Given the description of an element on the screen output the (x, y) to click on. 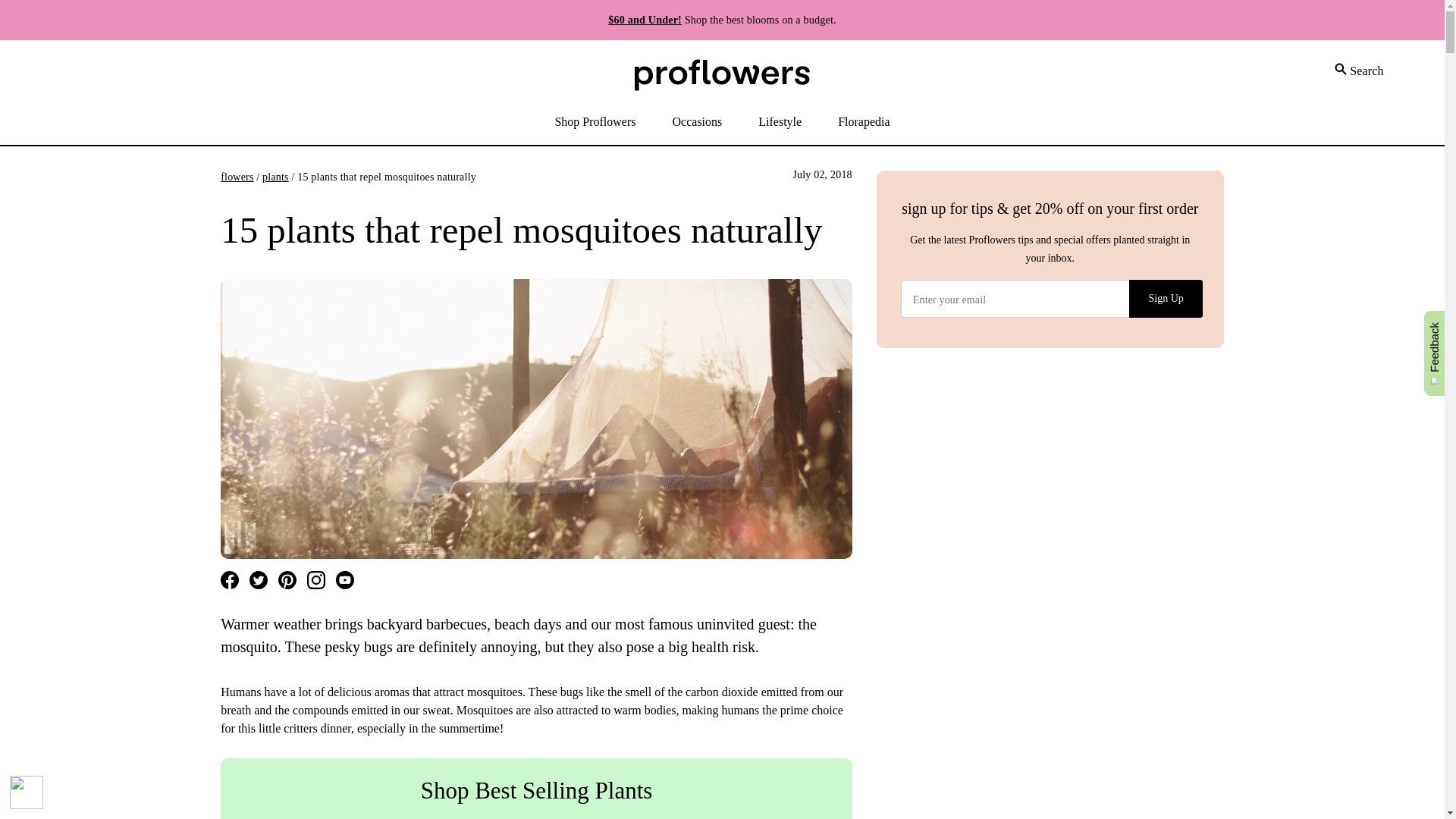
Florapedia (863, 122)
Search (1358, 69)
plants (275, 176)
Occasions (697, 122)
Lifestyle (779, 122)
flowers (237, 176)
Sign Up (1165, 298)
Shop Proflowers (594, 122)
